Given the description of an element on the screen output the (x, y) to click on. 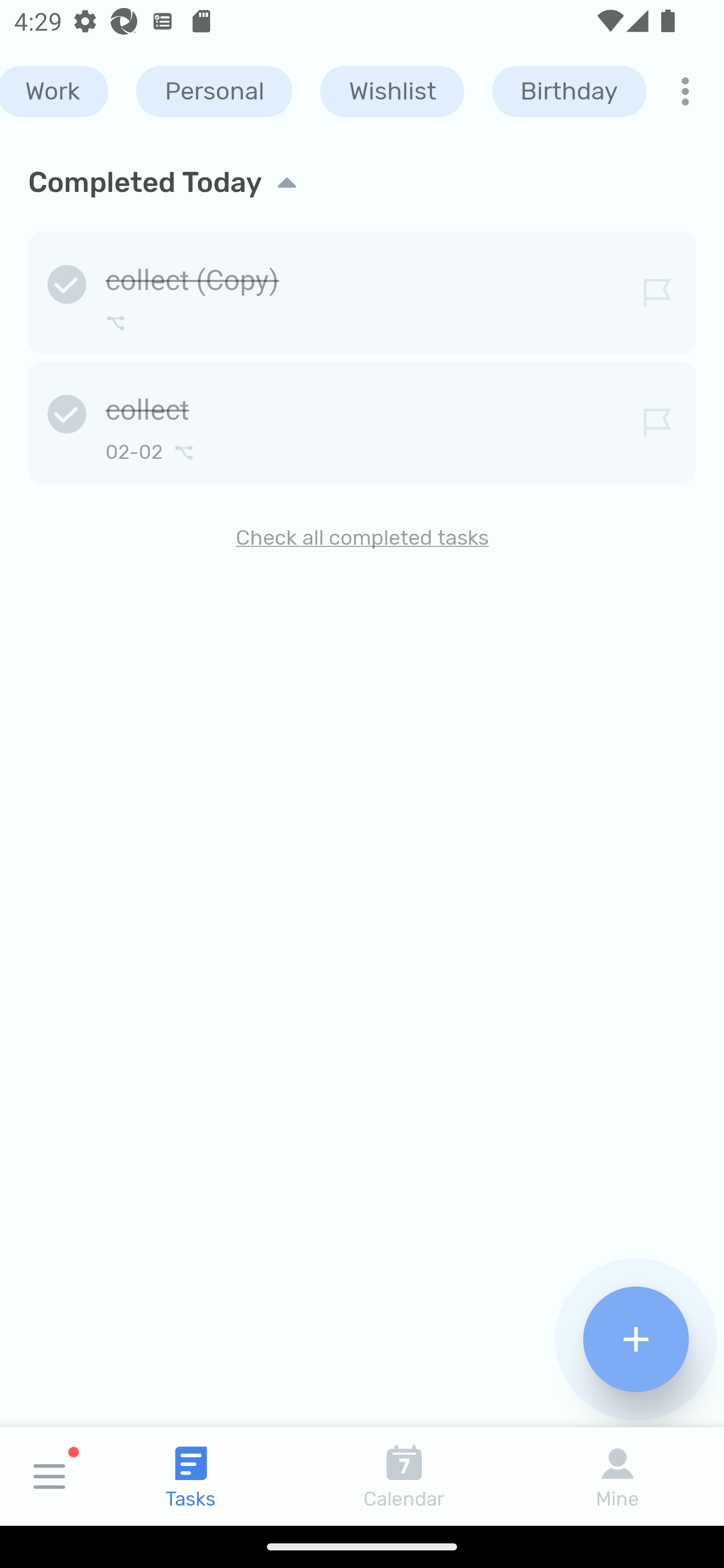
Work (53, 91)
Personal (213, 91)
Wishlist (392, 91)
Birthday (569, 91)
Completed Today (362, 182)
collect (Copy) (362, 289)
collect 02-02 (362, 419)
Check all completed tasks (361, 537)
Tasks (190, 1475)
Calendar (404, 1475)
Mine (617, 1475)
